Given the description of an element on the screen output the (x, y) to click on. 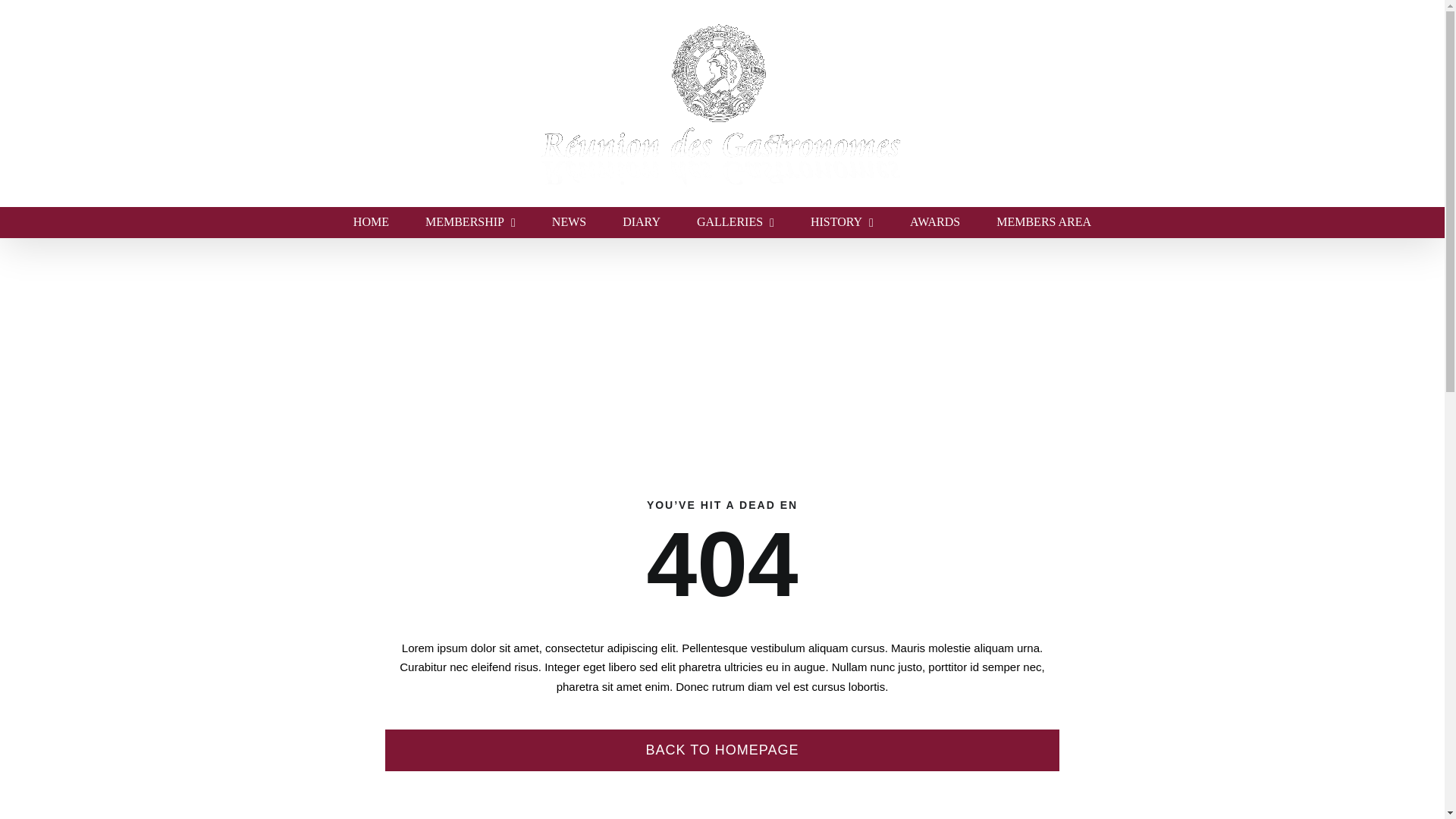
GALLERIES (735, 222)
MEMBERSHIP (470, 222)
DIARY (642, 222)
HOME (370, 222)
AWARDS (934, 222)
NEWS (568, 222)
HISTORY (841, 222)
MEMBERS AREA (1042, 222)
